Given the description of an element on the screen output the (x, y) to click on. 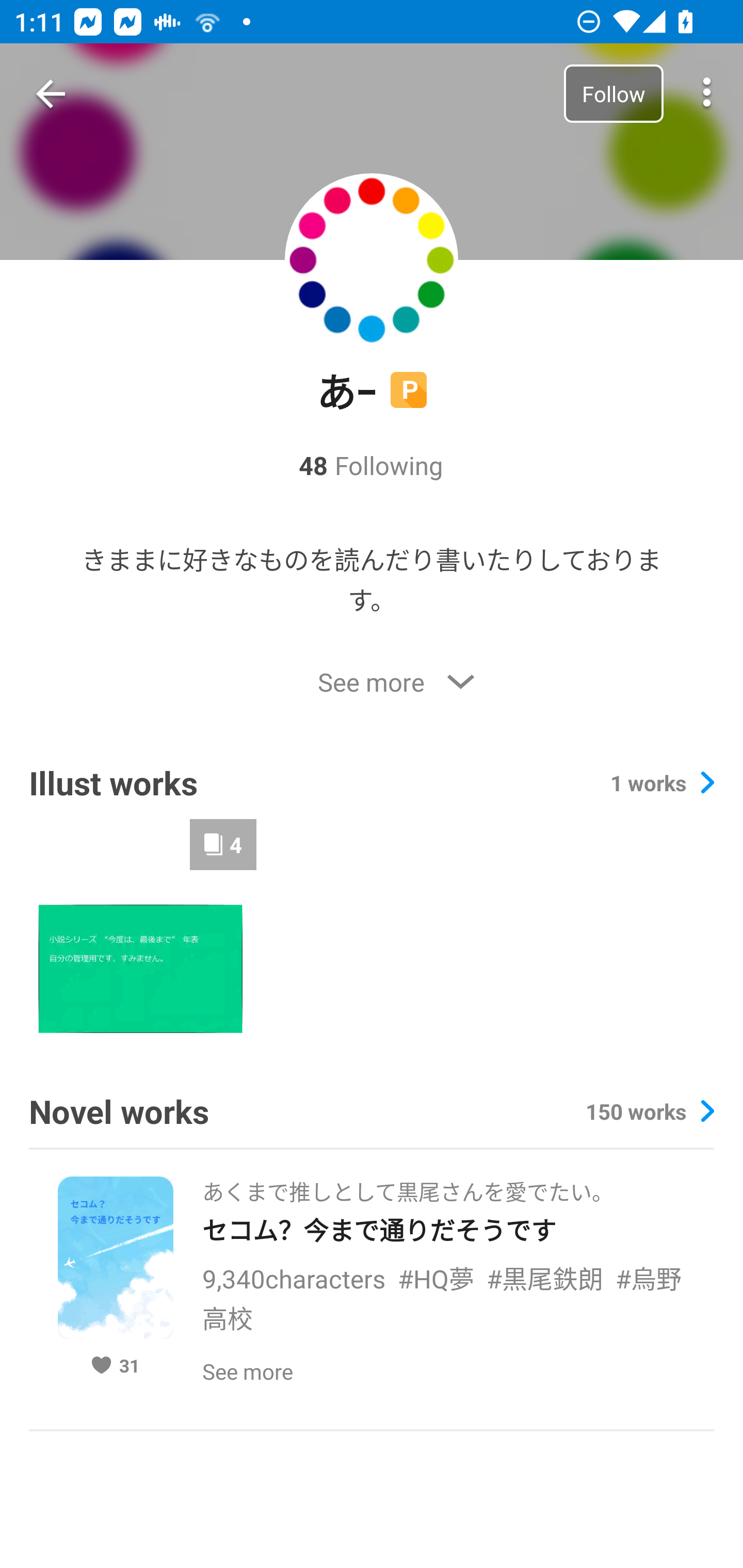
Navigate up (50, 93)
More options (706, 93)
Follow (613, 93)
48 Following (370, 465)
See more (371, 682)
1 works (662, 783)
4 (142, 931)
150 works (649, 1110)
あくまで推しとして黒尾さんを愛でたい。 (407, 1185)
